Given the description of an element on the screen output the (x, y) to click on. 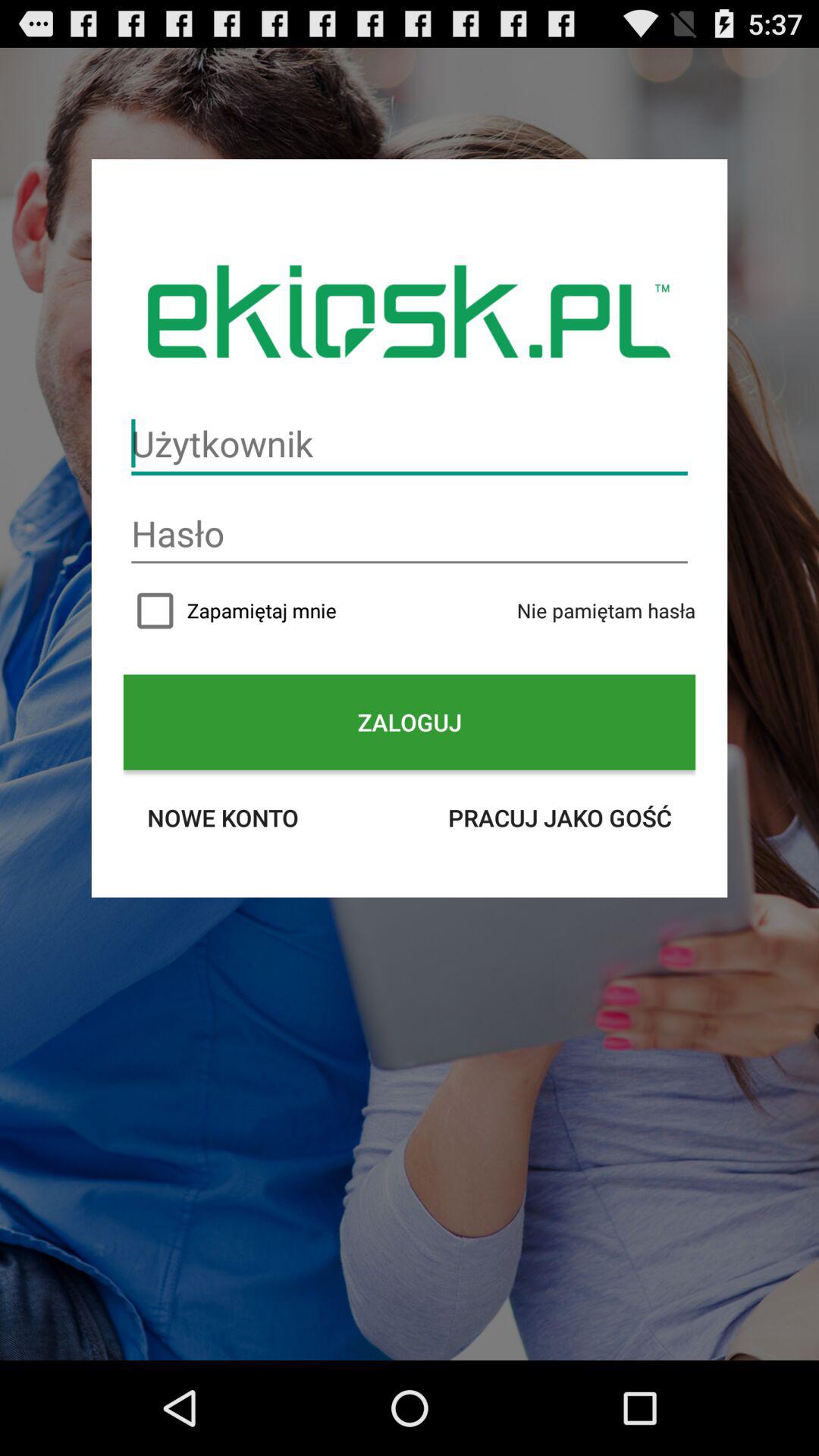
password field (409, 533)
